Given the description of an element on the screen output the (x, y) to click on. 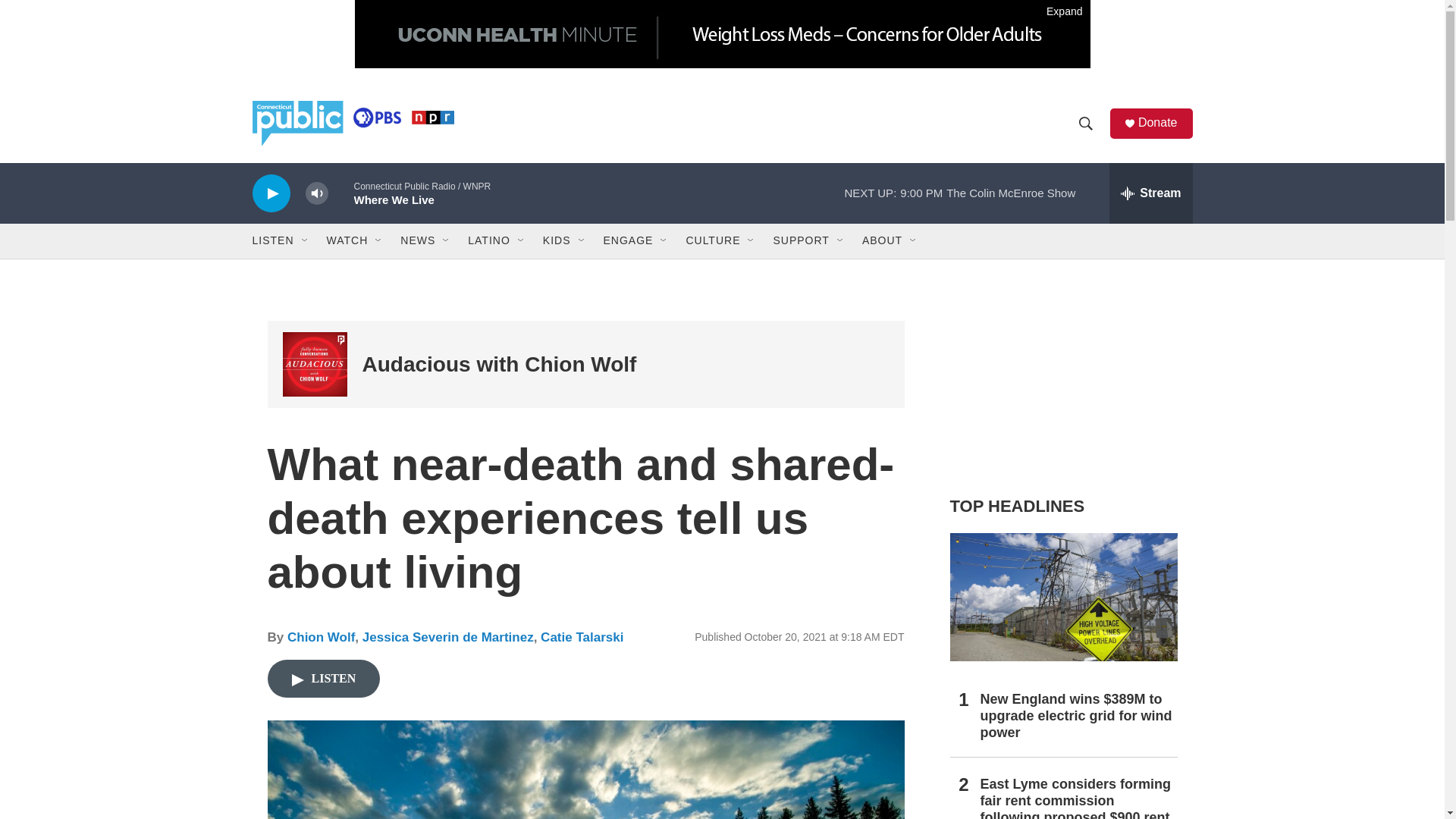
Expand (722, 33)
3rd party ad content (1062, 370)
